Given the description of an element on the screen output the (x, y) to click on. 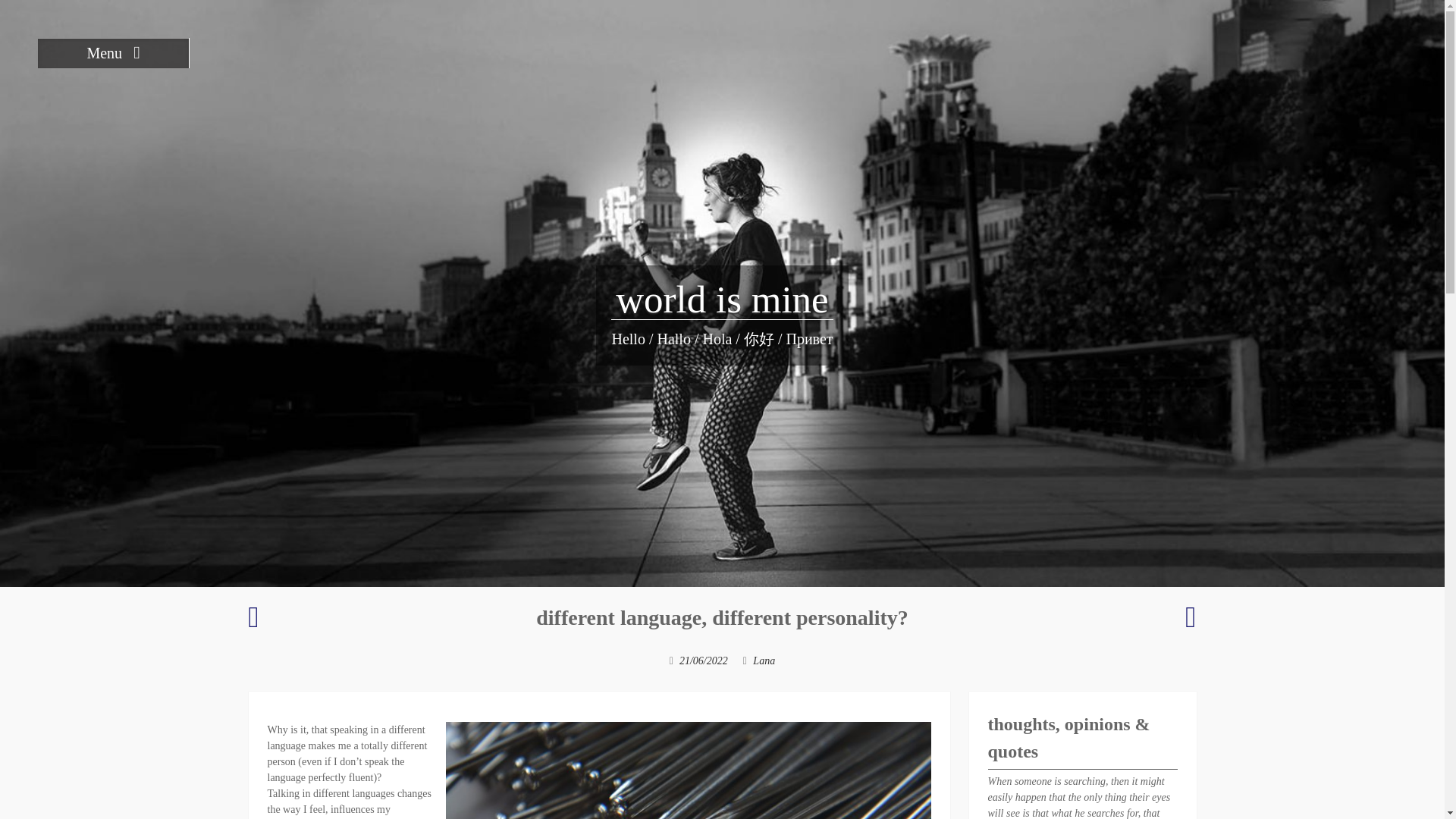
Menu (113, 52)
world is mine (721, 299)
Lana (763, 660)
feelings are confusing (1190, 623)
the purpose and obstacles of life (253, 623)
